Given the description of an element on the screen output the (x, y) to click on. 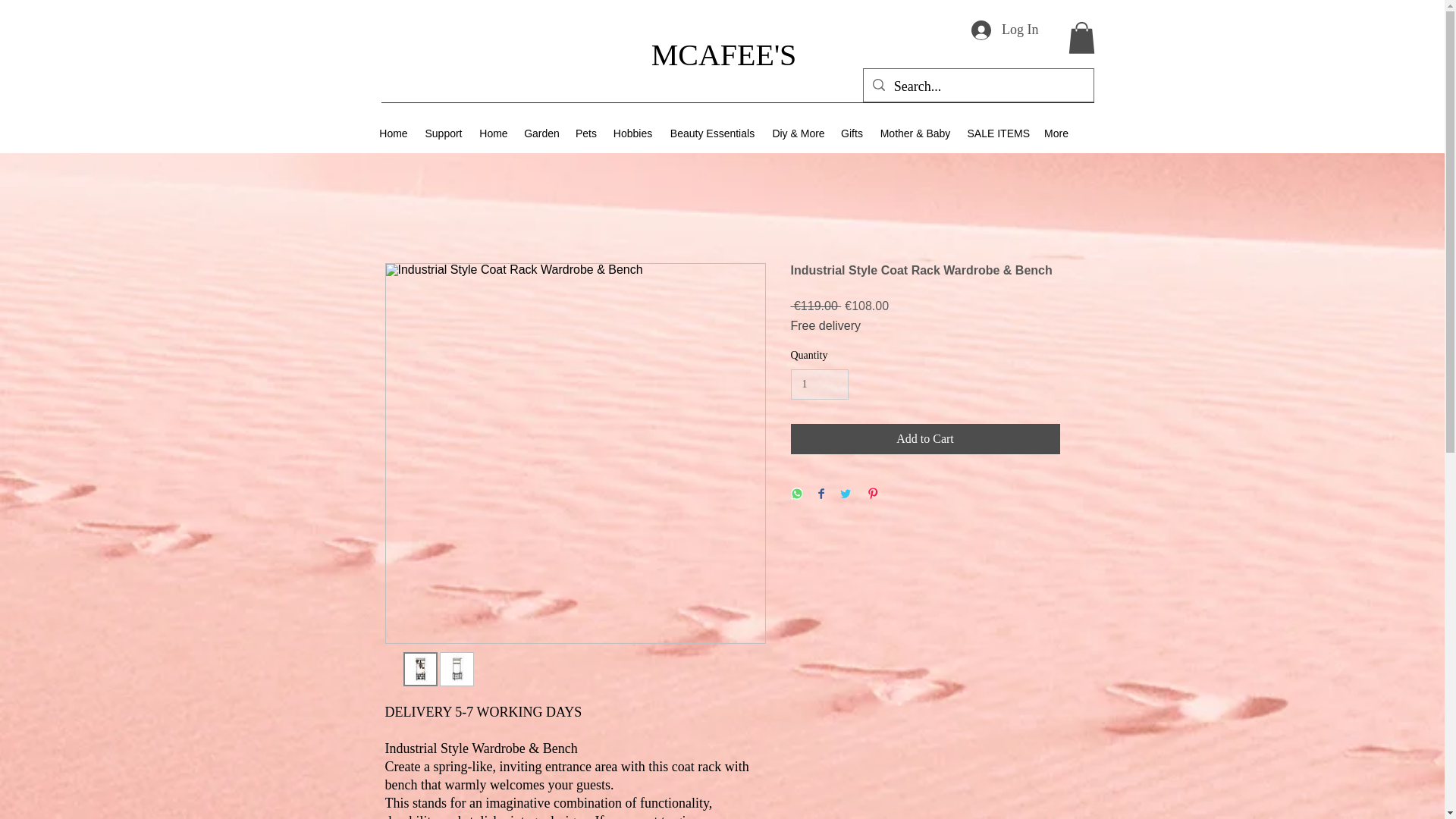
Log In (1004, 29)
Home (393, 133)
Support (442, 133)
Home (493, 133)
1 (818, 384)
